Given the description of an element on the screen output the (x, y) to click on. 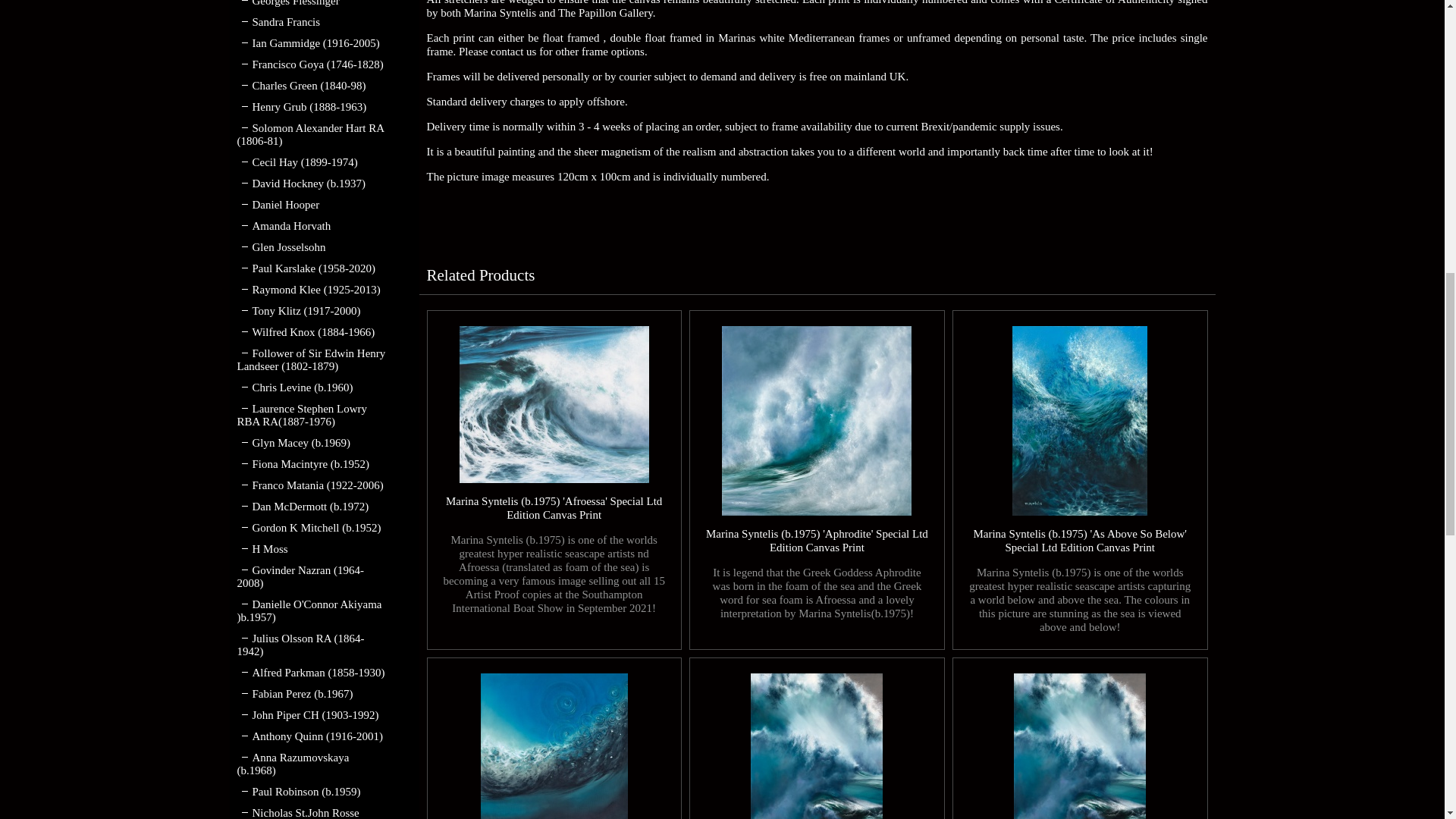
Sandra Francis (277, 21)
Glen Josselsohn (279, 246)
Georges Fiessinger (287, 3)
Daniel Hooper (276, 204)
Amanda Horvath (282, 225)
